Given the description of an element on the screen output the (x, y) to click on. 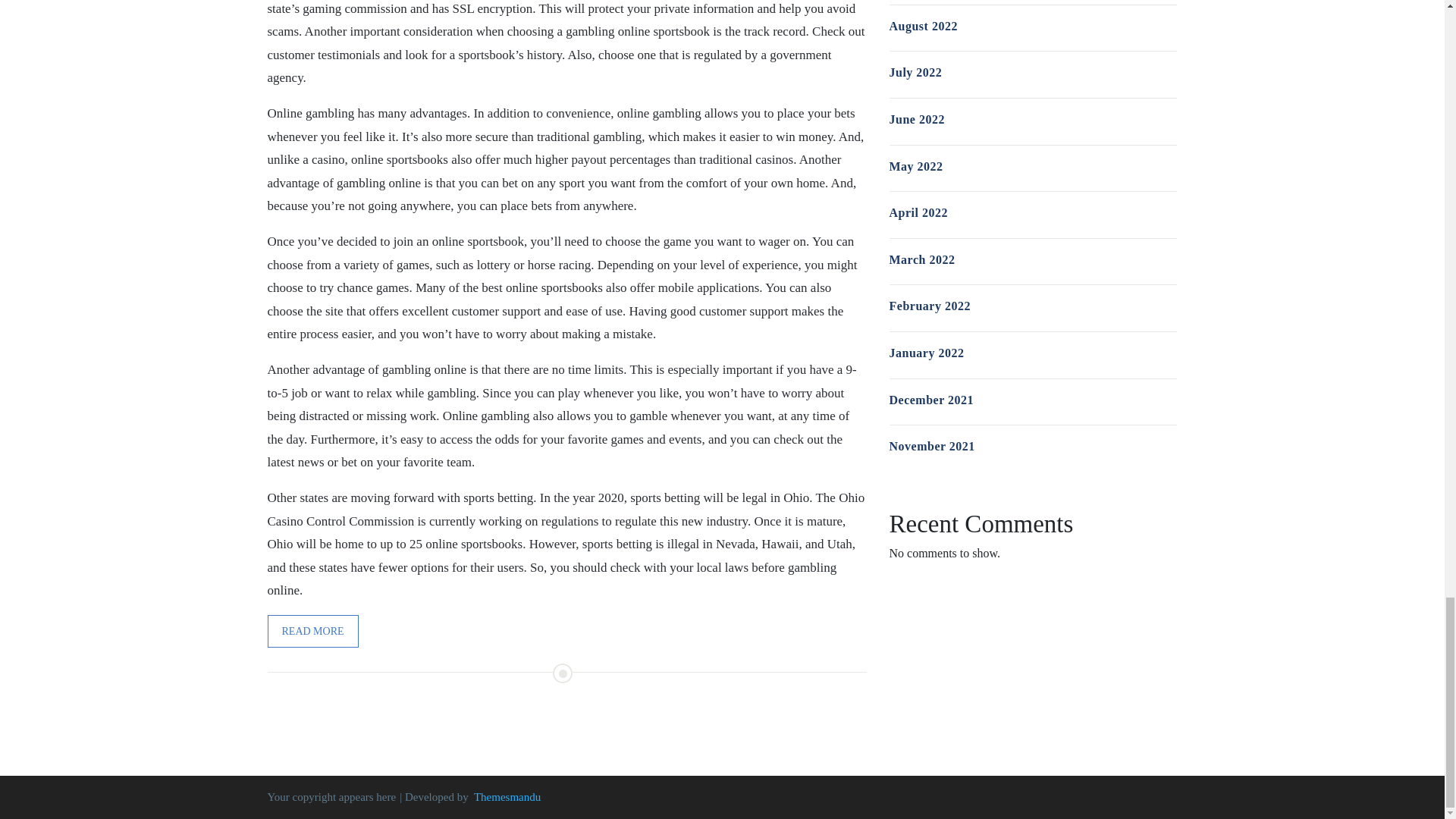
READ MORE (312, 631)
